Given the description of an element on the screen output the (x, y) to click on. 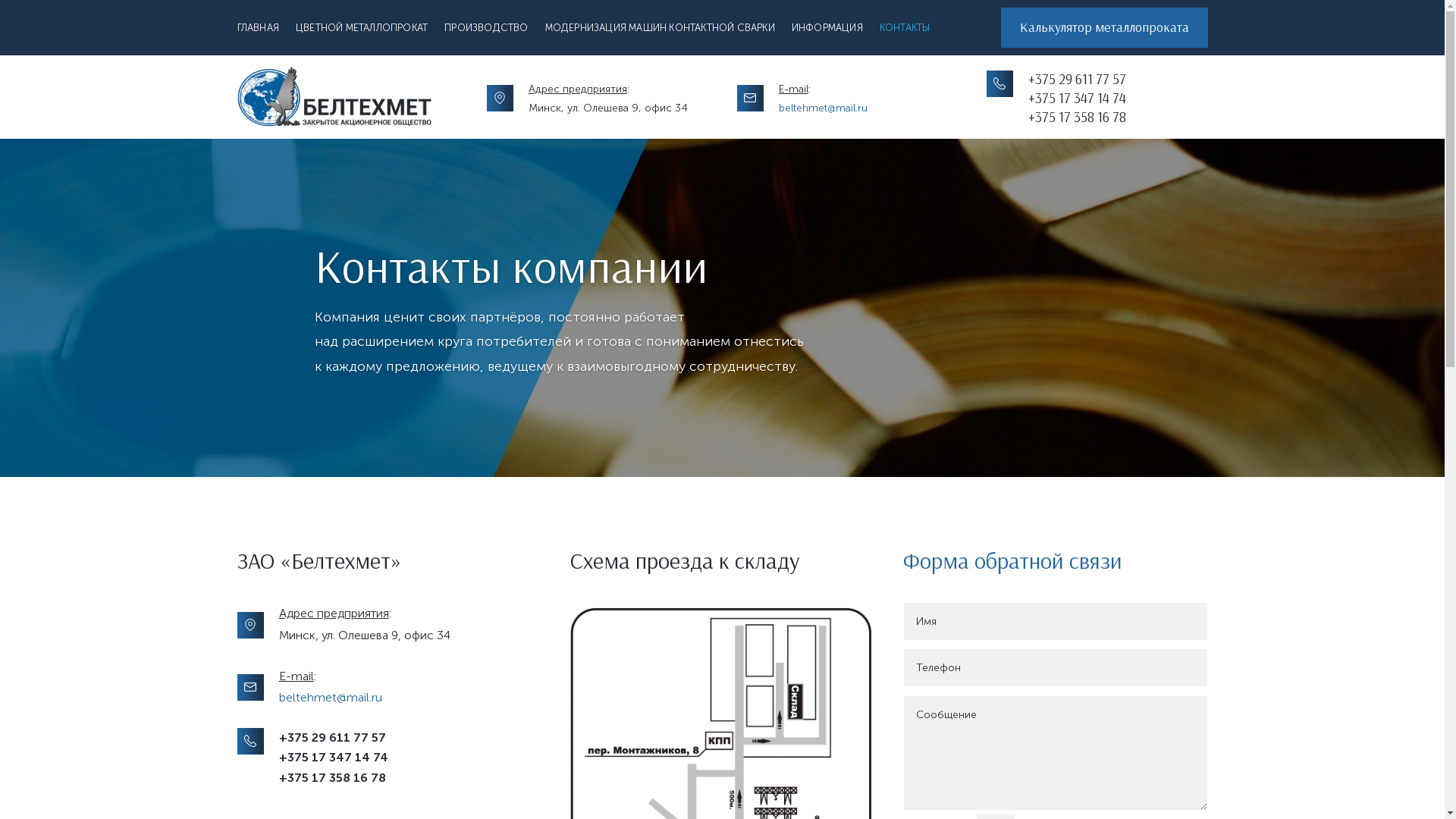
+375 17 358 16 78 Element type: text (332, 777)
+375 29 611 77 57 Element type: text (1077, 78)
beltehmet@mail.ru Element type: text (330, 697)
beltehmet@mail.ru Element type: text (822, 107)
+375 17 347 14 74 Element type: text (1077, 97)
+375 17 358 16 78 Element type: text (1077, 116)
+375 29 611 77 57 Element type: text (332, 737)
LOGO6 Element type: hover (333, 96)
+375 17 347 14 74 Element type: text (333, 756)
